Given the description of an element on the screen output the (x, y) to click on. 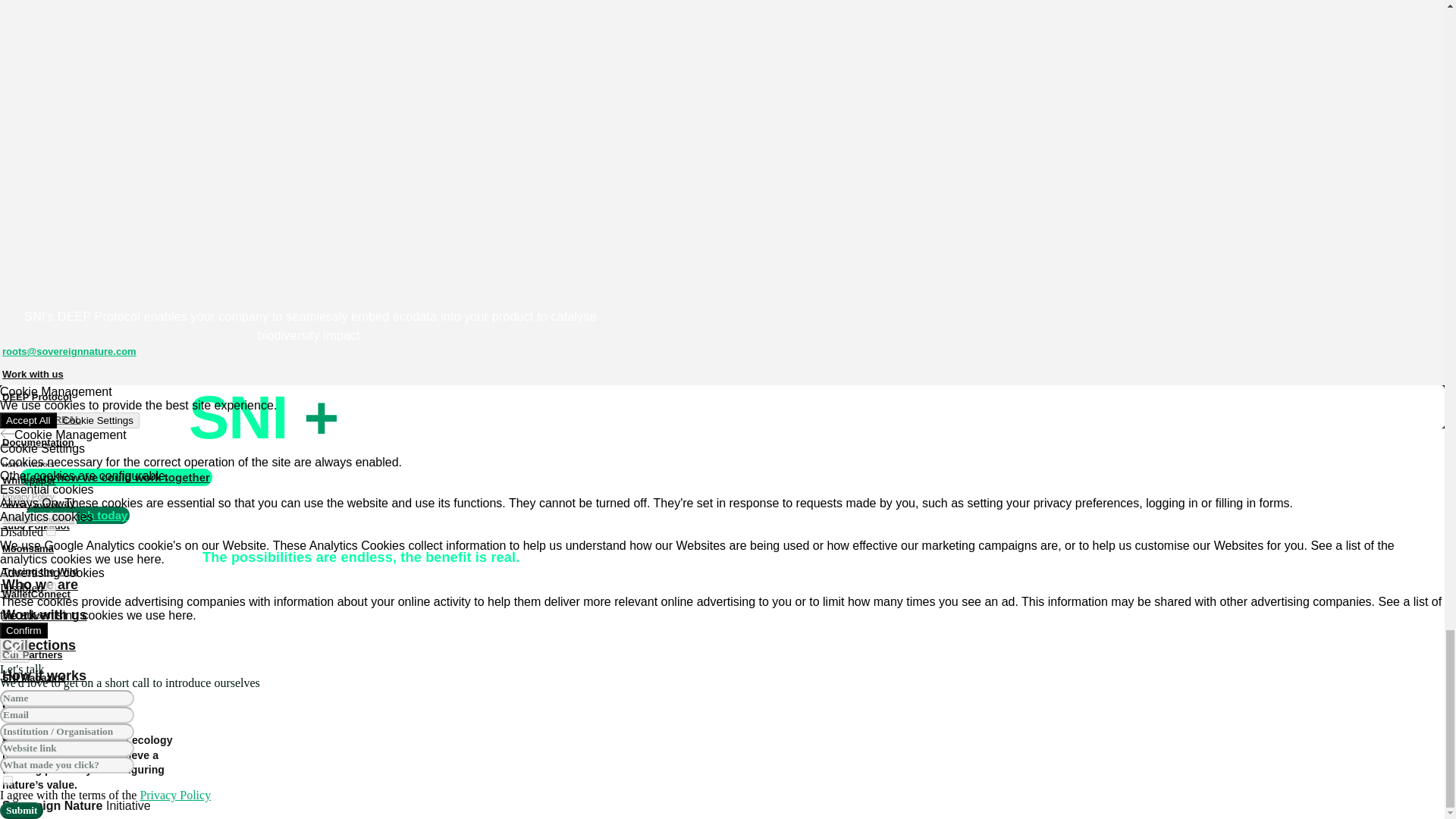
Get in touch today (78, 515)
advertising (51, 587)
yes (7, 780)
analytics (51, 531)
Verify with REAL (41, 419)
Whitepaper (29, 480)
Learn how we could work together (116, 477)
Documentation (38, 442)
Work with us (32, 374)
DEEP Protocol (37, 396)
